Given the description of an element on the screen output the (x, y) to click on. 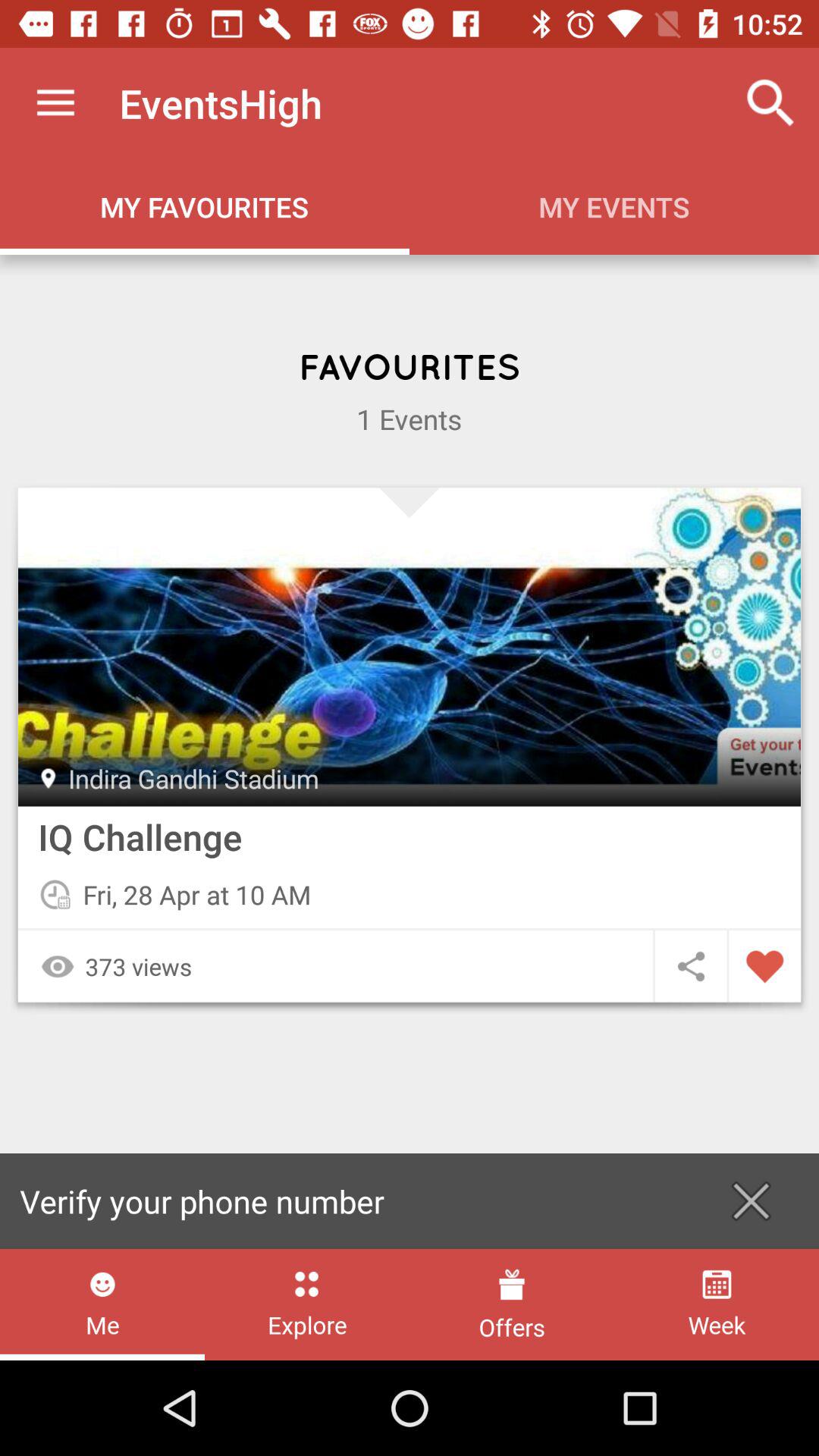
launch the icon next to the offers (716, 1304)
